Given the description of an element on the screen output the (x, y) to click on. 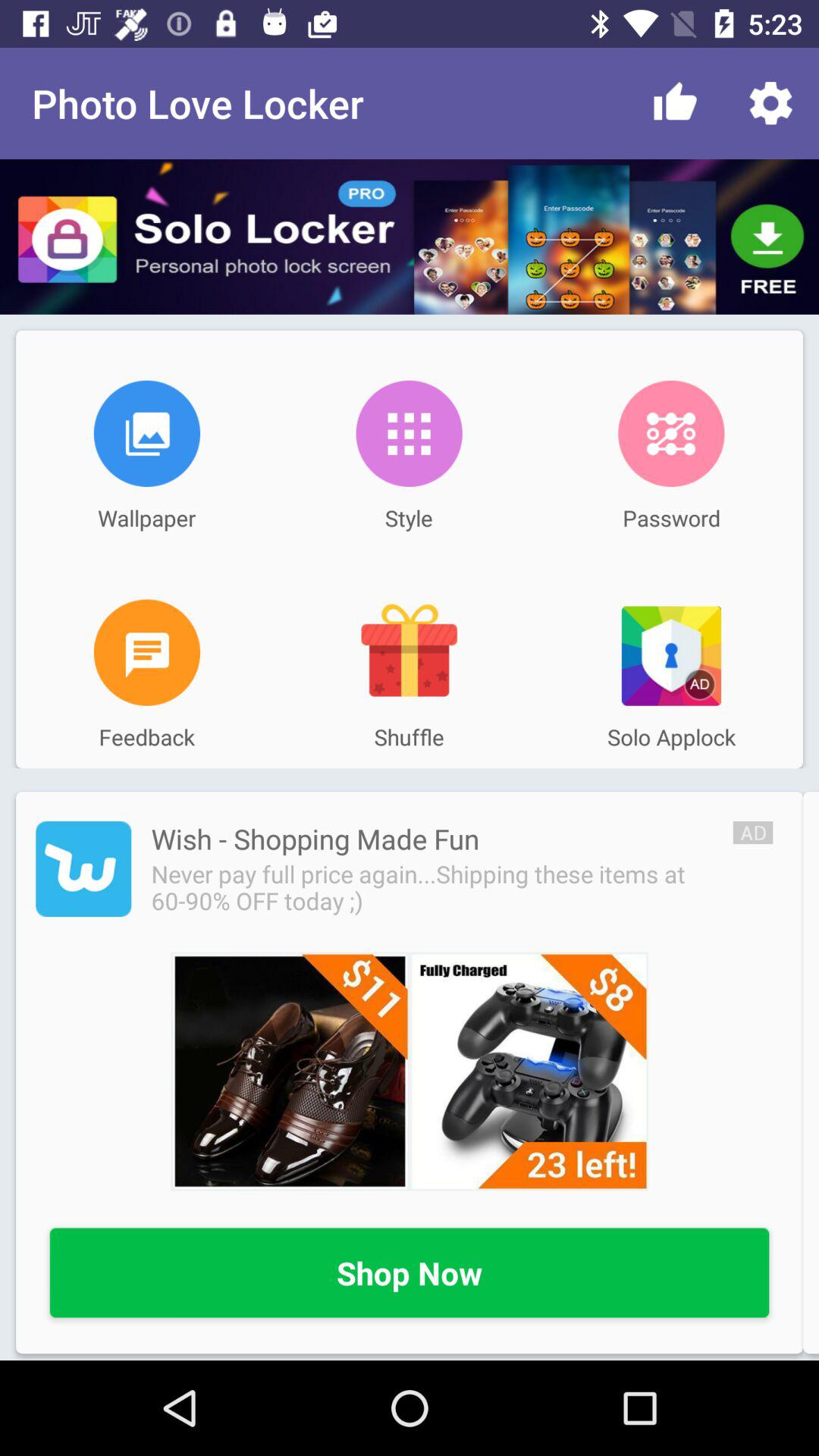
tap item to the right of the photo love locker (675, 103)
